Given the description of an element on the screen output the (x, y) to click on. 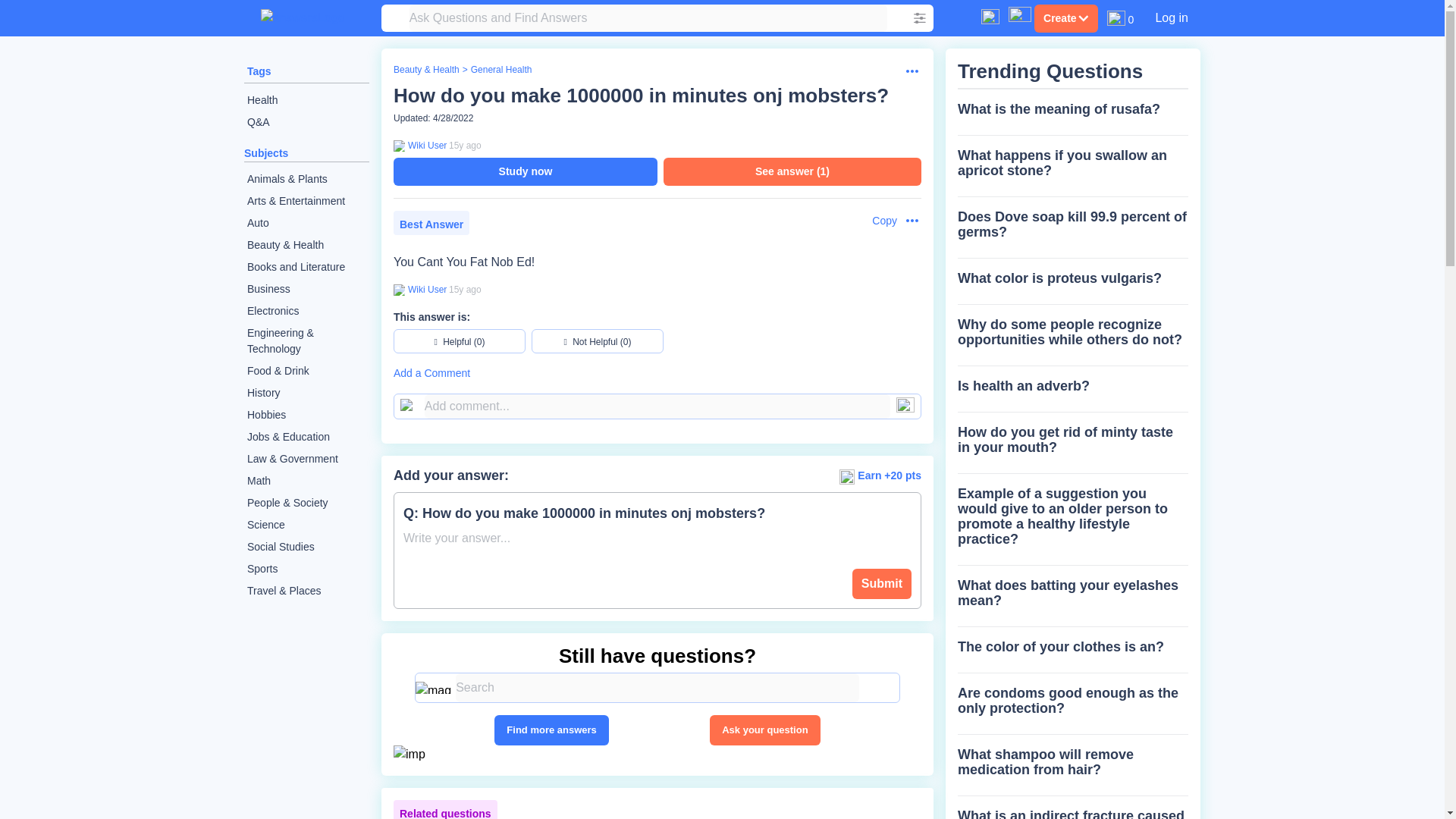
Social Studies (306, 546)
History (306, 393)
Create (1065, 18)
Math (306, 481)
2008-09-22 16:08:48 (464, 289)
Auto (306, 223)
Subjects (266, 152)
Health (306, 100)
Books and Literature (306, 267)
How do you make 1000000 in minutes onj mobsters? (640, 95)
